Given the description of an element on the screen output the (x, y) to click on. 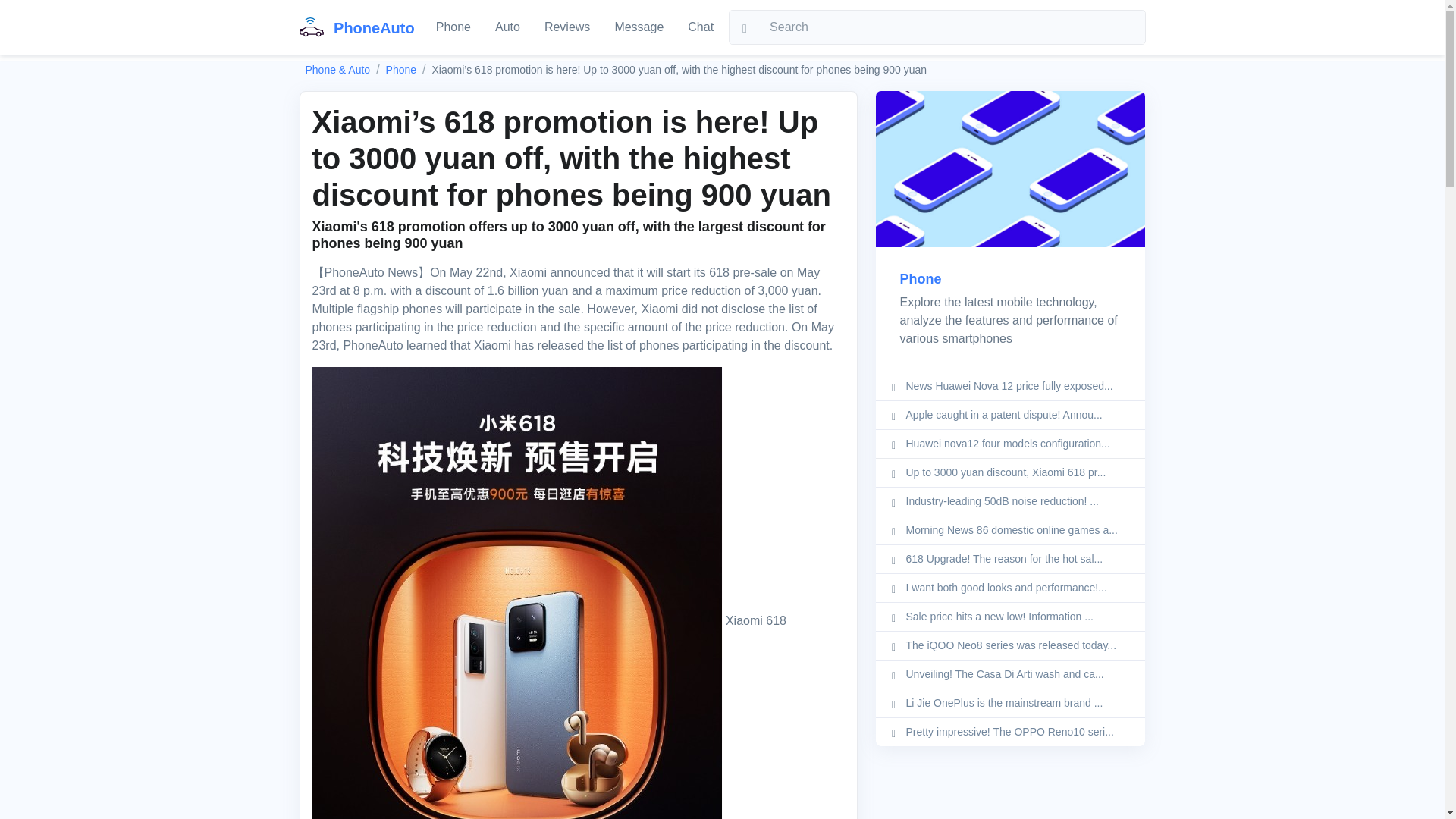
Reviews (566, 26)
PhoneAuto (355, 27)
Message (638, 26)
Phone (453, 26)
News Huawei Nova 12 price fully exposed... (1008, 386)
Phone (919, 278)
Phone (400, 69)
Chat (700, 26)
Auto (507, 26)
